Given the description of an element on the screen output the (x, y) to click on. 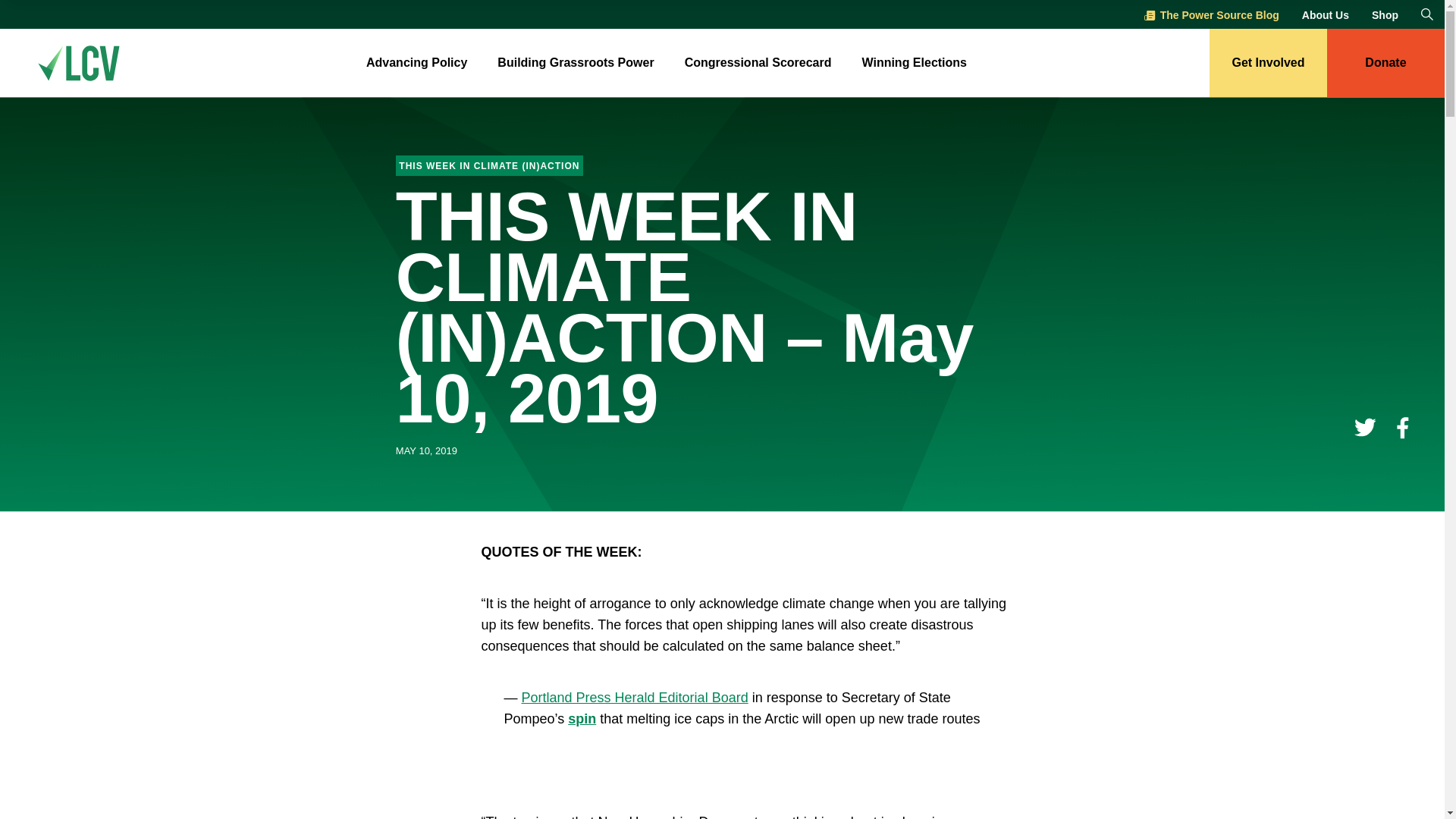
spin (581, 718)
Winning Elections (913, 63)
The Power Source Blog (1211, 15)
Portland Press Herald Editorial Board (634, 697)
Building Grassroots Power (575, 63)
About Us (1325, 15)
Congressional Scorecard (757, 63)
Advancing Policy (416, 63)
Shop (1384, 15)
Get Involved (1267, 62)
